Given the description of an element on the screen output the (x, y) to click on. 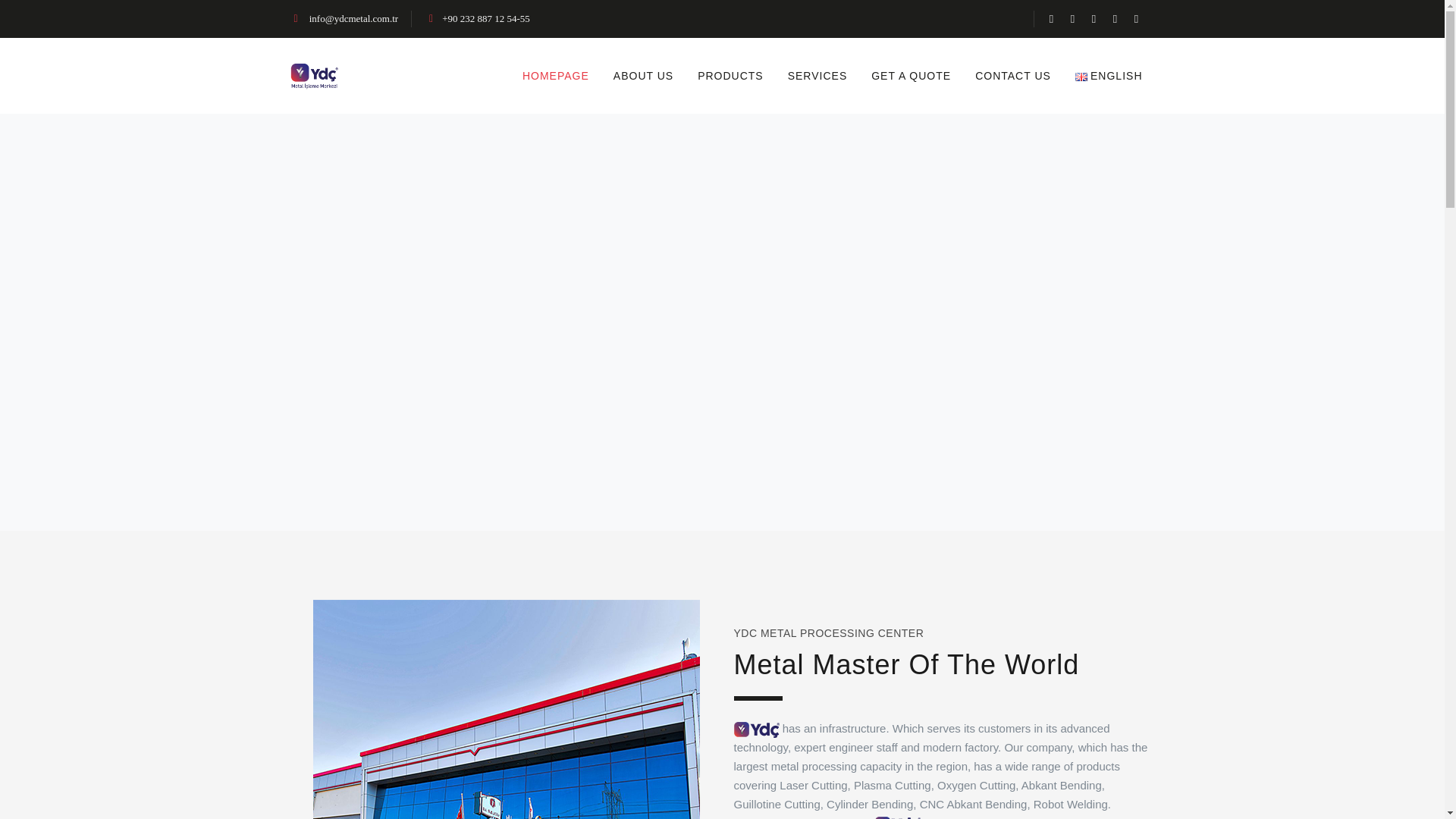
HOMEPAGE (556, 75)
CONTACT US (1012, 75)
ABOUT US (643, 75)
SERVICES (818, 75)
GET A QUOTE (910, 75)
PRODUCTS (730, 75)
ENGLISH (1108, 75)
